Given the description of an element on the screen output the (x, y) to click on. 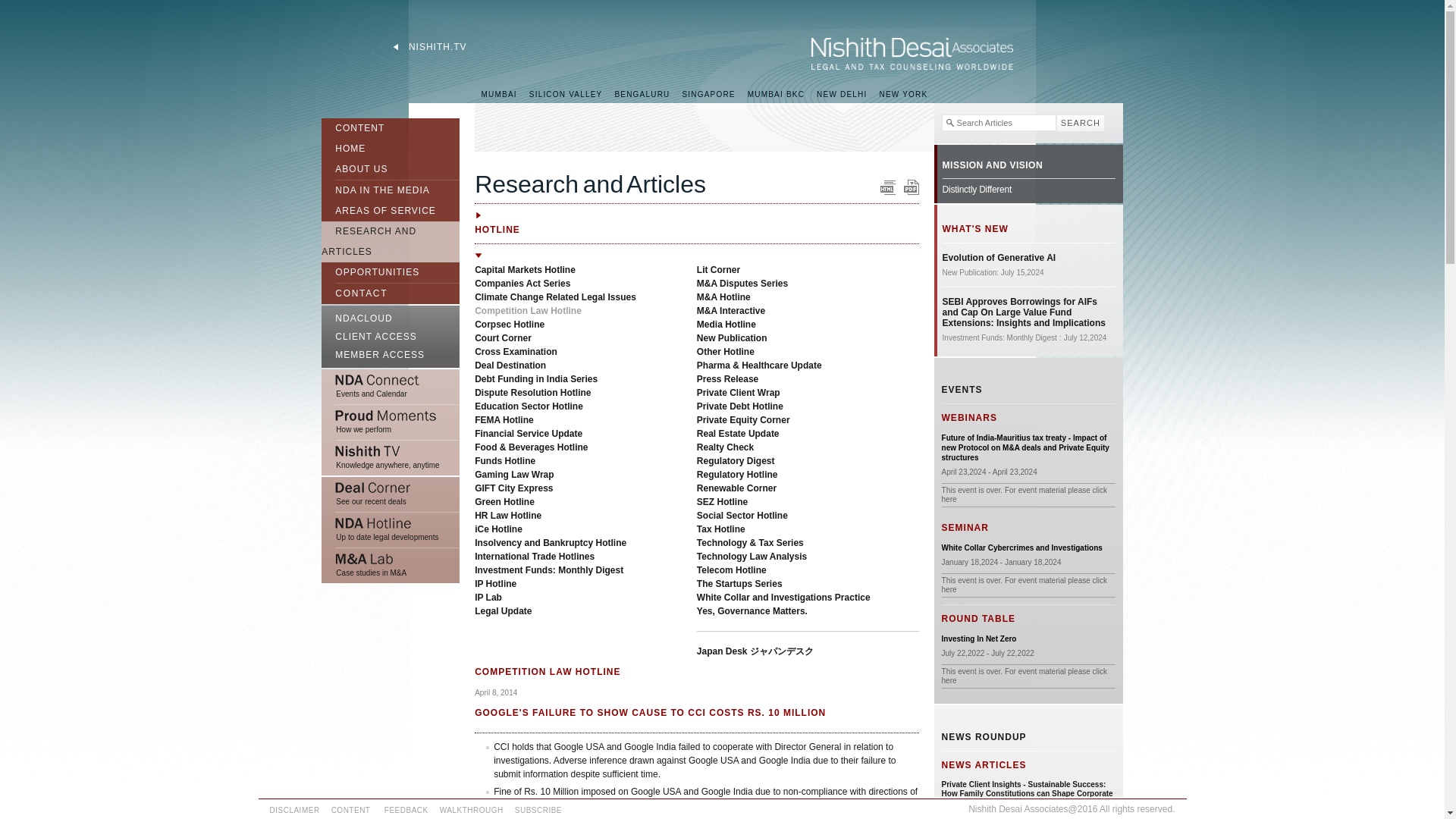
Up to date legal developments (390, 529)
Webinar (1028, 447)
NDA IN THE MEDIA (375, 187)
   NISHITH.TV (429, 46)
See our recent deals (390, 494)
Evolution of Generative AI (999, 257)
Conference (1022, 547)
Round Table (979, 638)
MUMBAI BKC (775, 94)
CLIENT ACCESS (390, 336)
NEW DELHI (841, 94)
Opens internal link in current window (992, 164)
SILICON VALLEY (565, 94)
MEMBER ACCESS (390, 356)
